Given the description of an element on the screen output the (x, y) to click on. 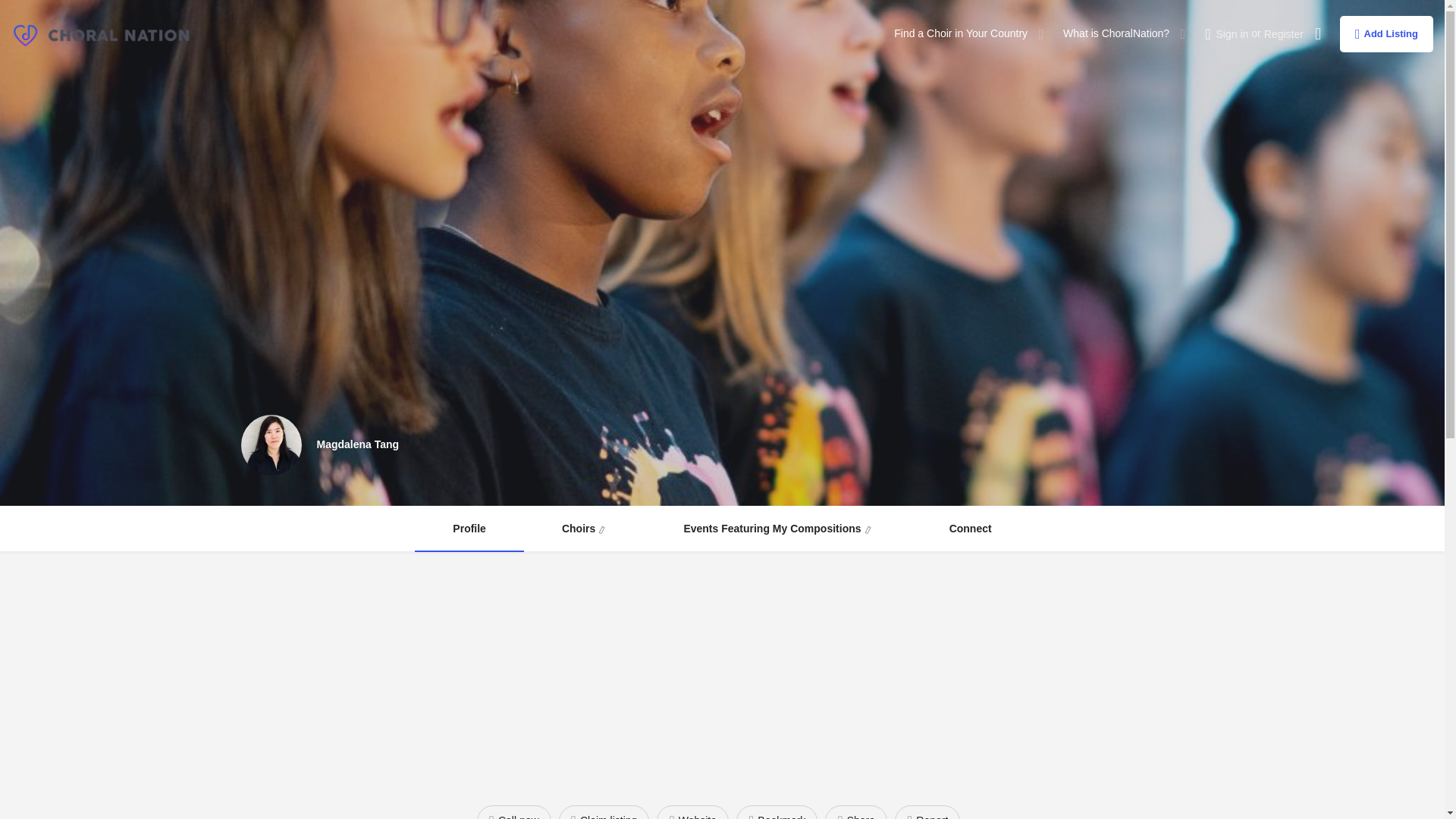
What is ChoralNation? (1115, 32)
Bookmark (776, 812)
Connect (970, 529)
Report (927, 812)
Register (1283, 33)
Claim listing (604, 812)
Website (692, 812)
Add Listing (1385, 33)
Magdalena Tang jpg (271, 444)
Sign in (1231, 33)
